Given the description of an element on the screen output the (x, y) to click on. 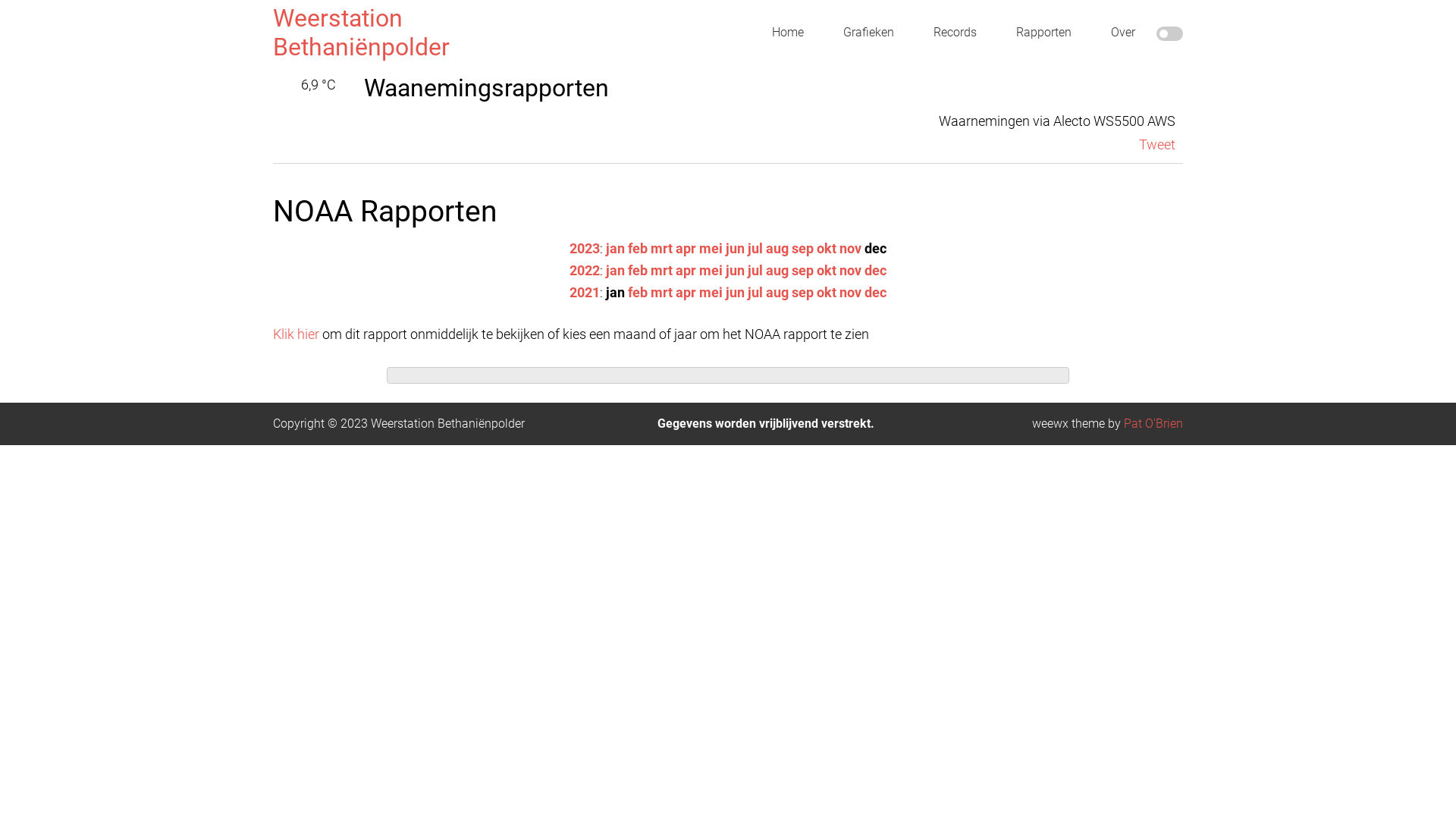
jun Element type: text (734, 248)
jul Element type: text (754, 292)
apr Element type: text (685, 270)
mei Element type: text (710, 292)
sep Element type: text (802, 248)
apr Element type: text (685, 292)
2023 Element type: text (584, 248)
jul Element type: text (754, 248)
Pat O'Brien Element type: text (1153, 423)
mei Element type: text (710, 270)
Rapporten Element type: text (1043, 32)
dec Element type: text (875, 292)
2022 Element type: text (584, 270)
Home Element type: text (787, 32)
jun Element type: text (734, 270)
mrt Element type: text (661, 292)
nov Element type: text (850, 270)
aug Element type: text (776, 292)
apr Element type: text (685, 248)
okt Element type: text (826, 248)
Grafieken Element type: text (868, 32)
sep Element type: text (802, 270)
dec Element type: text (875, 270)
mrt Element type: text (661, 248)
Records Element type: text (954, 32)
feb Element type: text (637, 292)
feb Element type: text (637, 248)
jul Element type: text (754, 270)
jun Element type: text (734, 292)
nov Element type: text (850, 292)
aug Element type: text (776, 248)
Over Element type: text (1122, 32)
mei Element type: text (710, 248)
nov Element type: text (850, 248)
okt Element type: text (826, 292)
mrt Element type: text (661, 270)
Tweet Element type: text (1157, 144)
feb Element type: text (637, 270)
Klik hier Element type: text (296, 334)
jan Element type: text (614, 248)
jan Element type: text (614, 270)
aug Element type: text (776, 270)
okt Element type: text (826, 270)
2021 Element type: text (584, 292)
sep Element type: text (802, 292)
